Given the description of an element on the screen output the (x, y) to click on. 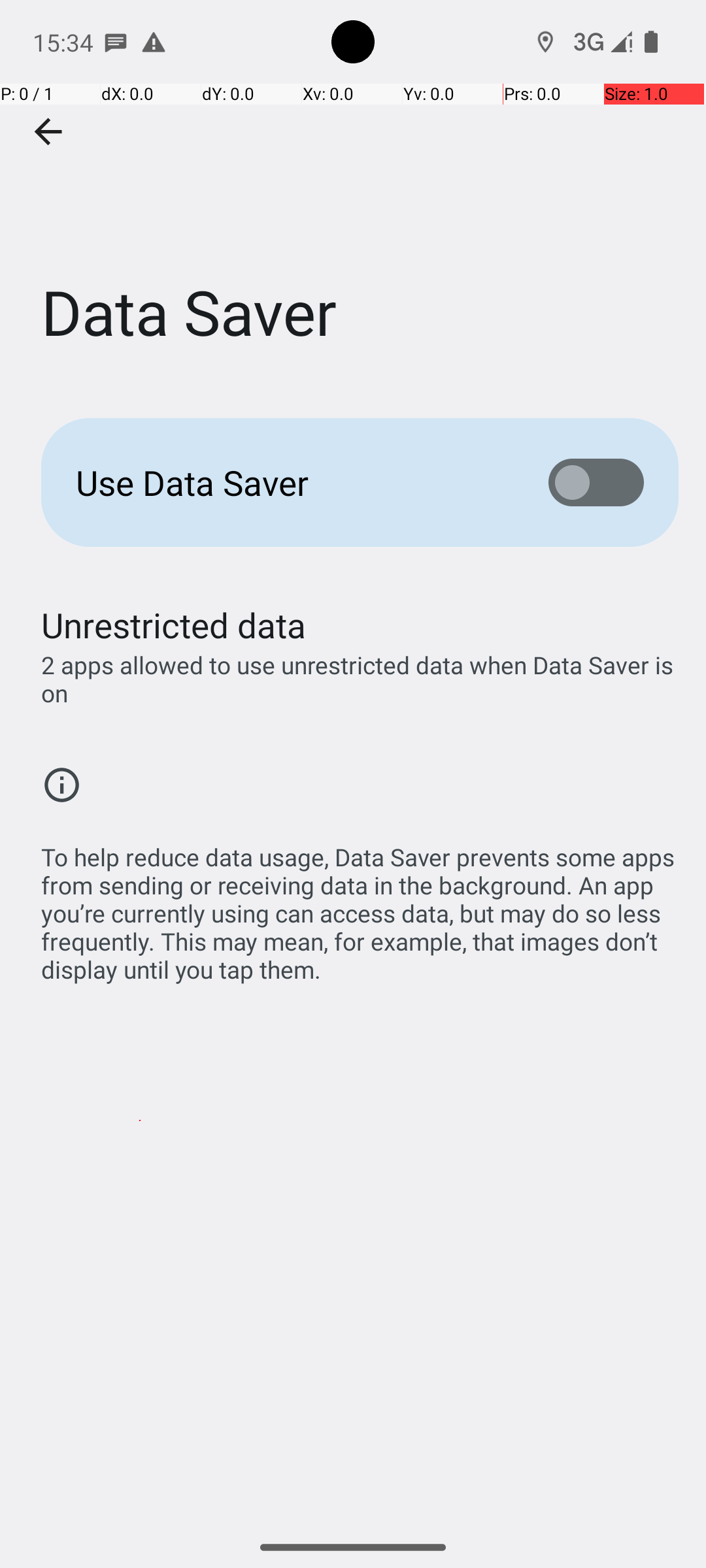
Data Saver Element type: android.widget.FrameLayout (353, 195)
Use Data Saver Element type: android.widget.TextView (291, 482)
Unrestricted data Element type: android.widget.TextView (173, 624)
2 apps allowed to use unrestricted data when Data Saver is on Element type: android.widget.TextView (359, 678)
To help reduce data usage, Data Saver prevents some apps from sending or receiving data in the background. An app you’re currently using can access data, but may do so less frequently. This may mean, for example, that images don’t display until you tap them. Element type: android.widget.TextView (359, 905)
